Given the description of an element on the screen output the (x, y) to click on. 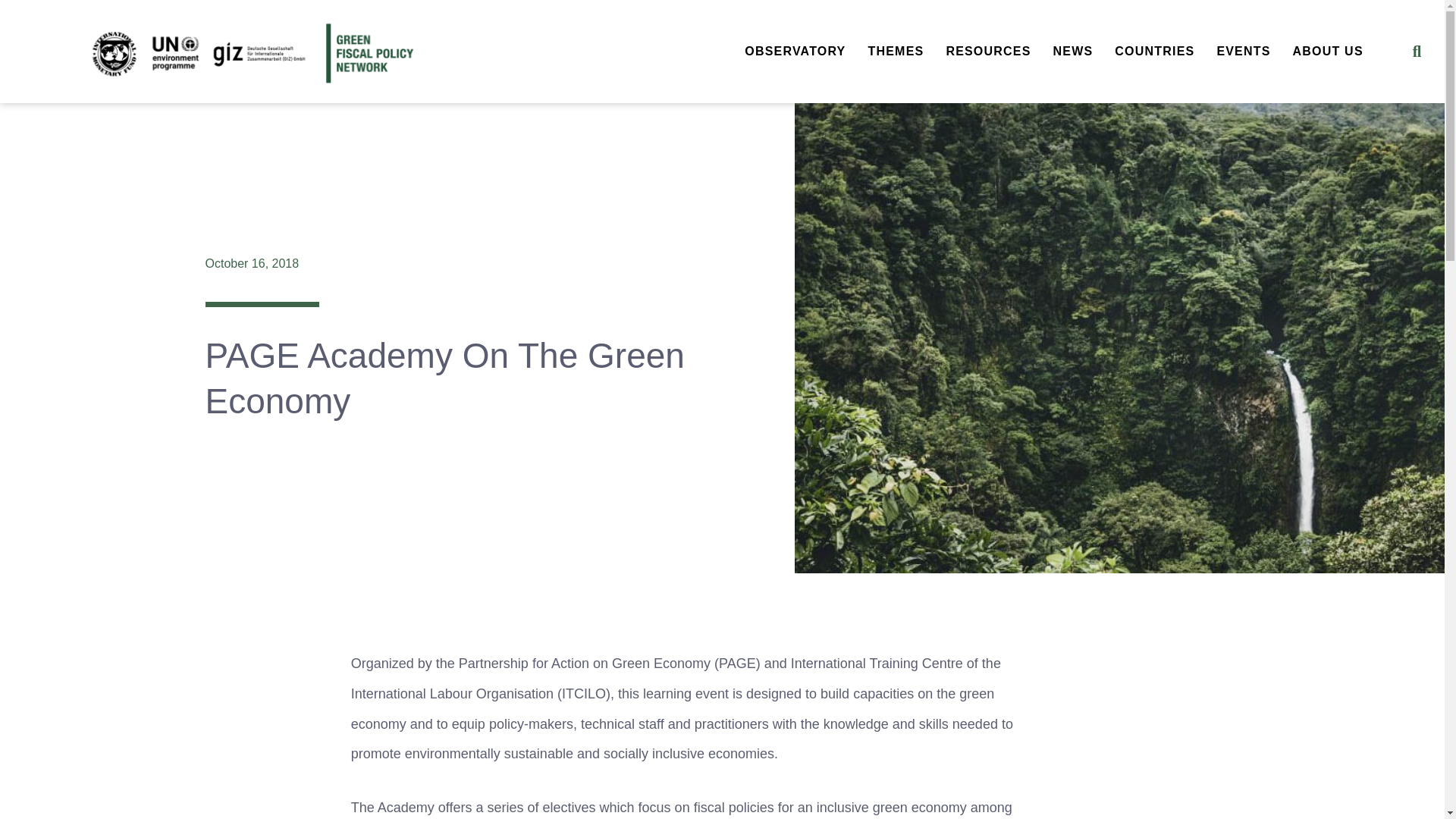
THEMES (896, 51)
RESOURCES (987, 51)
COUNTRIES (1154, 51)
NEWS (1073, 51)
OBSERVATORY (794, 51)
ABOUT US (1327, 51)
EVENTS (1243, 51)
